Given the description of an element on the screen output the (x, y) to click on. 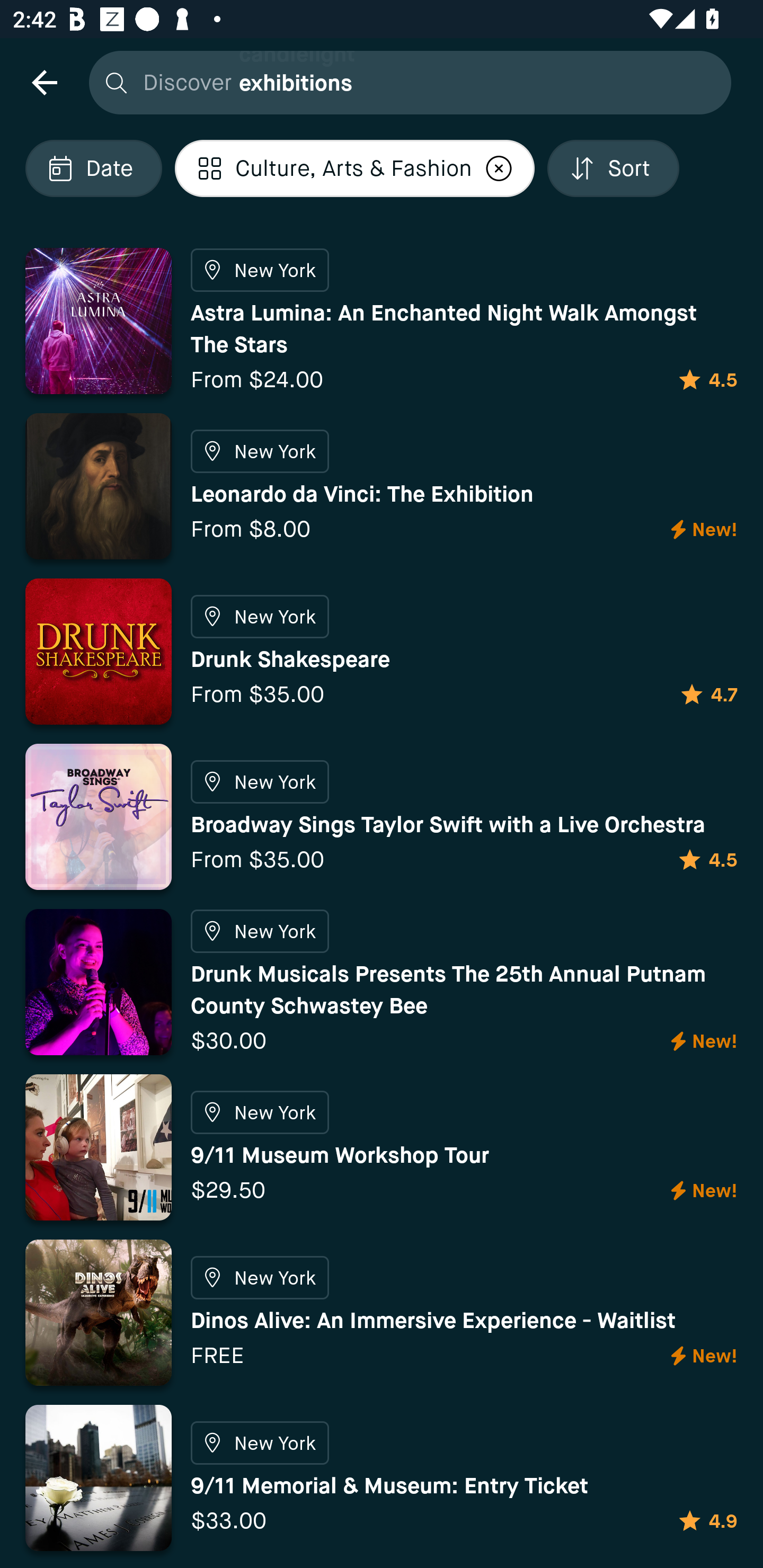
navigation icon (44, 81)
Discover candlelight exhibitions (405, 81)
Localized description Date (93, 168)
Localized description (498, 168)
Localized description Sort (613, 168)
